Given the description of an element on the screen output the (x, y) to click on. 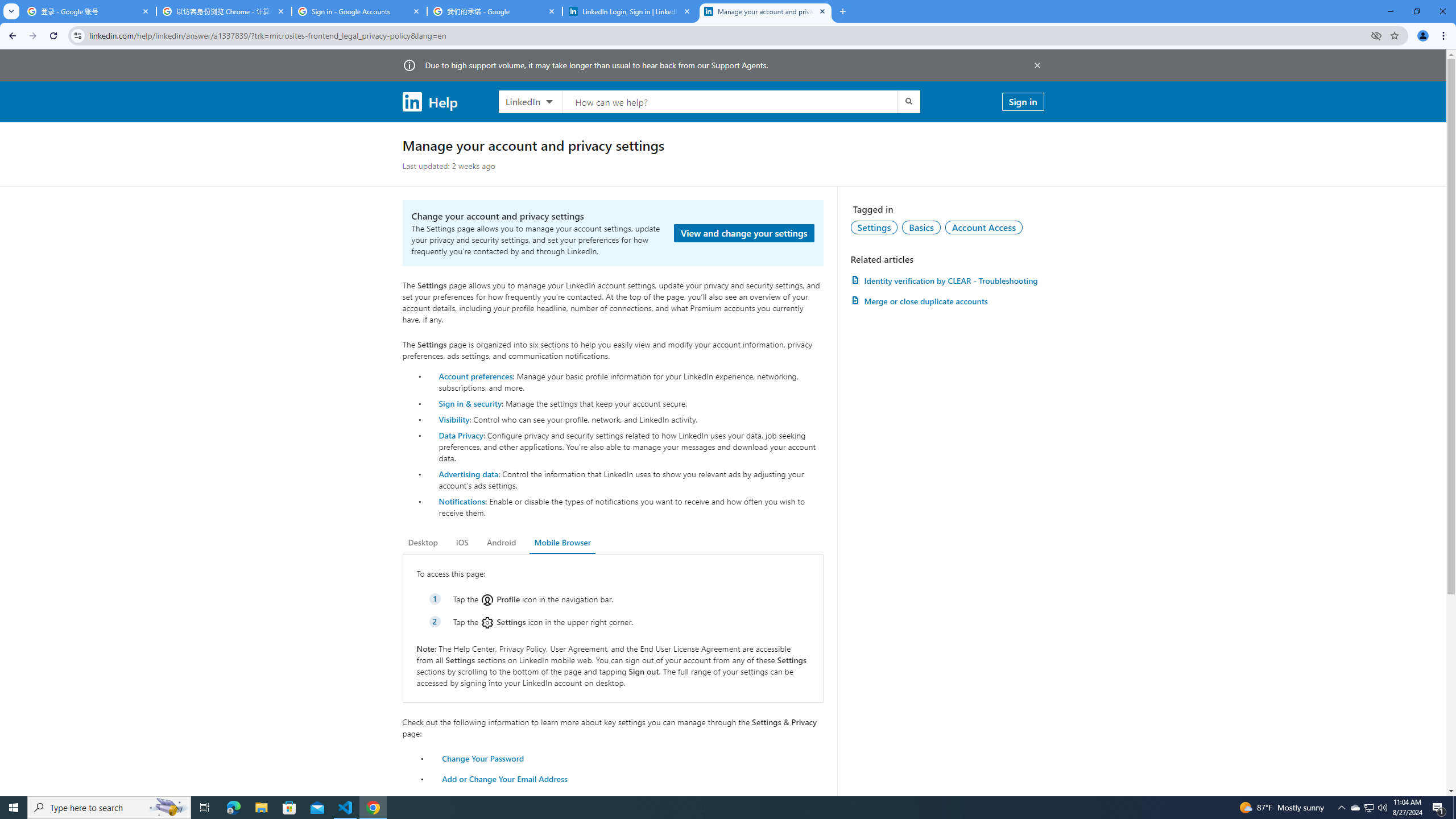
iOS (462, 542)
Notifications (461, 500)
Add or Change Your Email Address (504, 778)
Merge or close duplicate accounts (946, 300)
Visibility (454, 419)
AutomationID: topic-link-a149001 (874, 227)
Mobile Browser (562, 542)
